Given the description of an element on the screen output the (x, y) to click on. 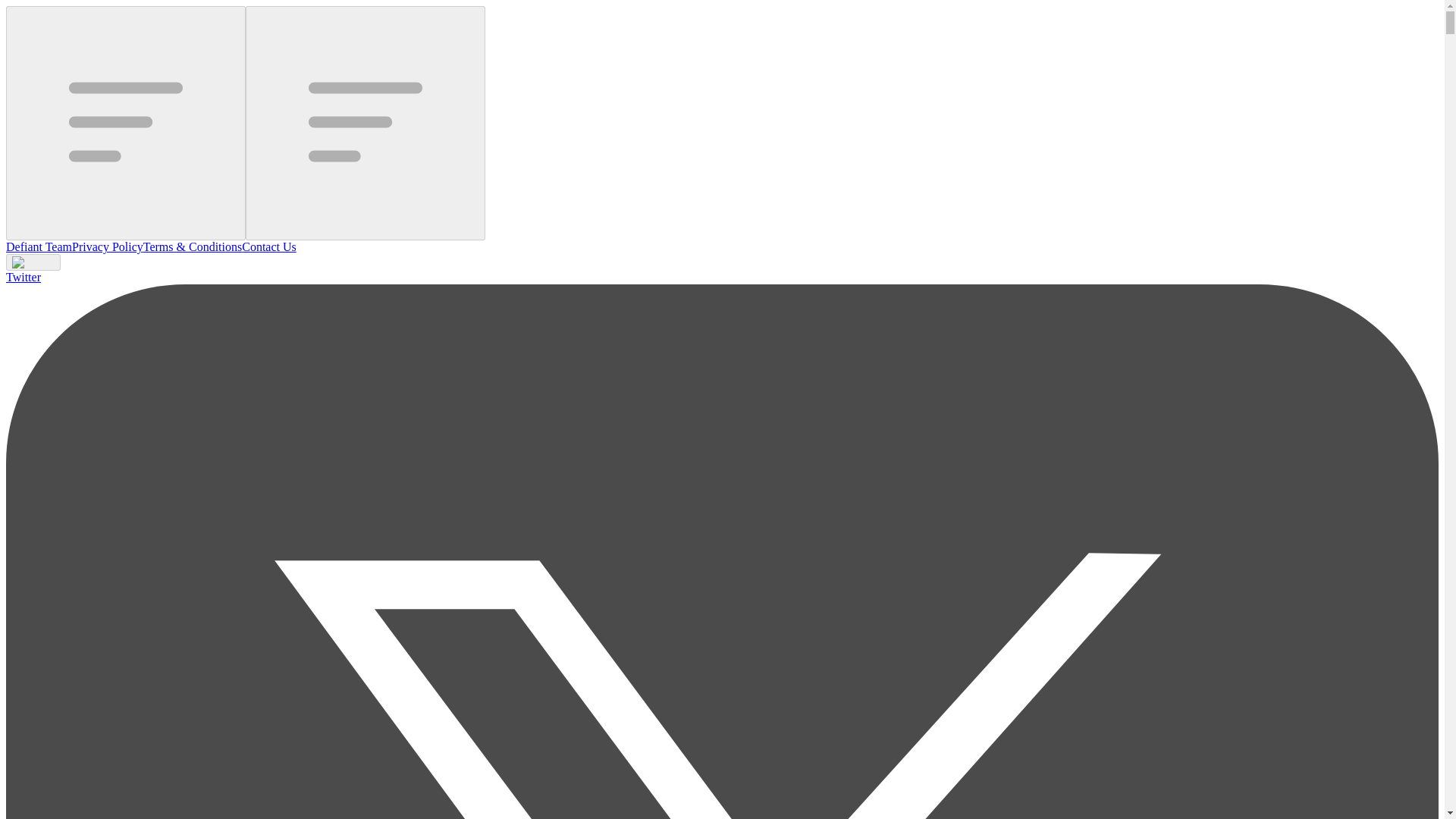
Defiant Team (38, 246)
Hamburguer button (125, 122)
Main Navigation (365, 122)
Contact Us (269, 246)
Privacy Policy (106, 246)
